Given the description of an element on the screen output the (x, y) to click on. 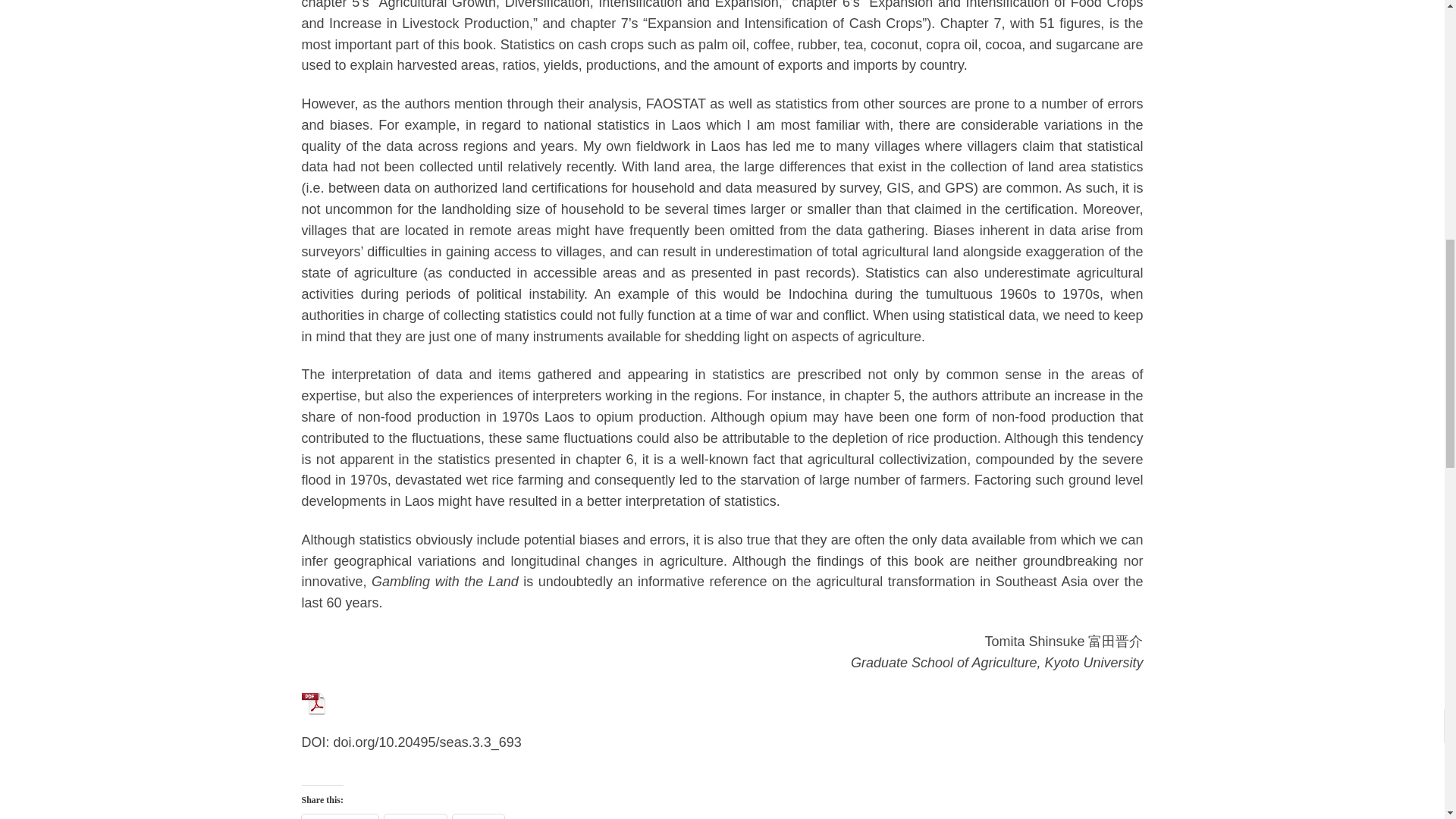
Click to share on Facebook (339, 816)
Click to share on LINE (477, 816)
Click to share on Twitter (415, 816)
